Given the description of an element on the screen output the (x, y) to click on. 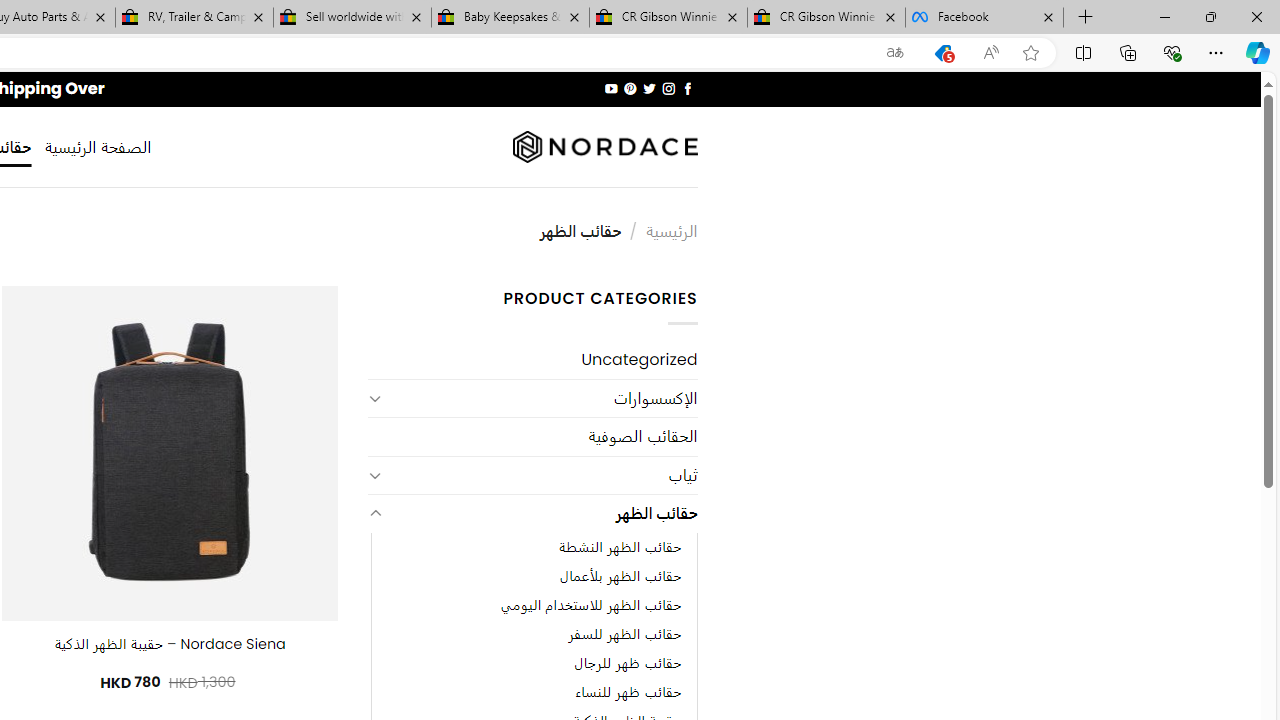
Follow on Pinterest (630, 88)
Follow on Twitter (648, 88)
Uncategorized (532, 359)
Sell worldwide with eBay (352, 17)
RV, Trailer & Camper Steps & Ladders for sale | eBay (194, 17)
Follow on Instagram (667, 88)
